Given the description of an element on the screen output the (x, y) to click on. 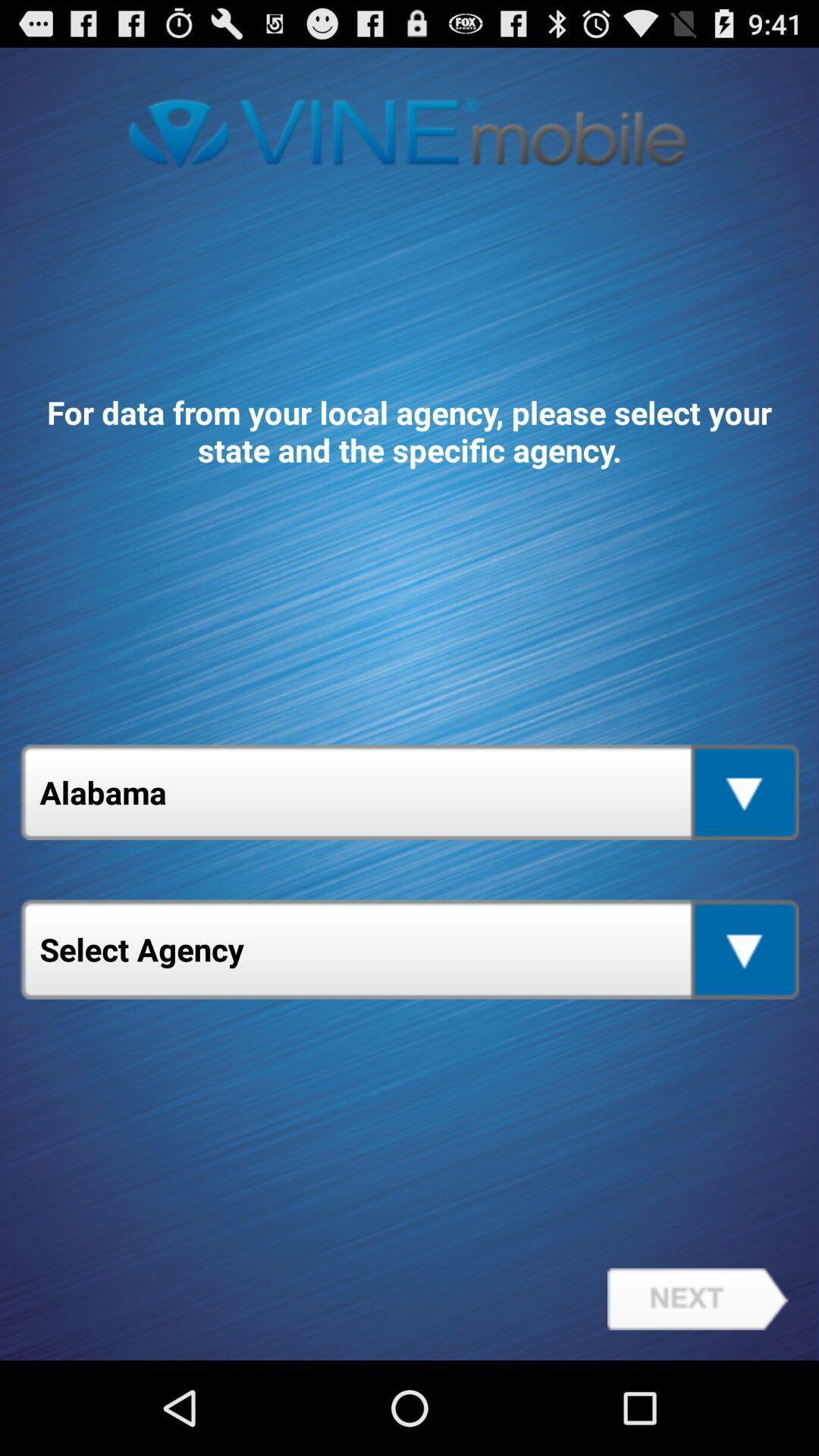
turn off icon below the for data from (409, 792)
